Given the description of an element on the screen output the (x, y) to click on. 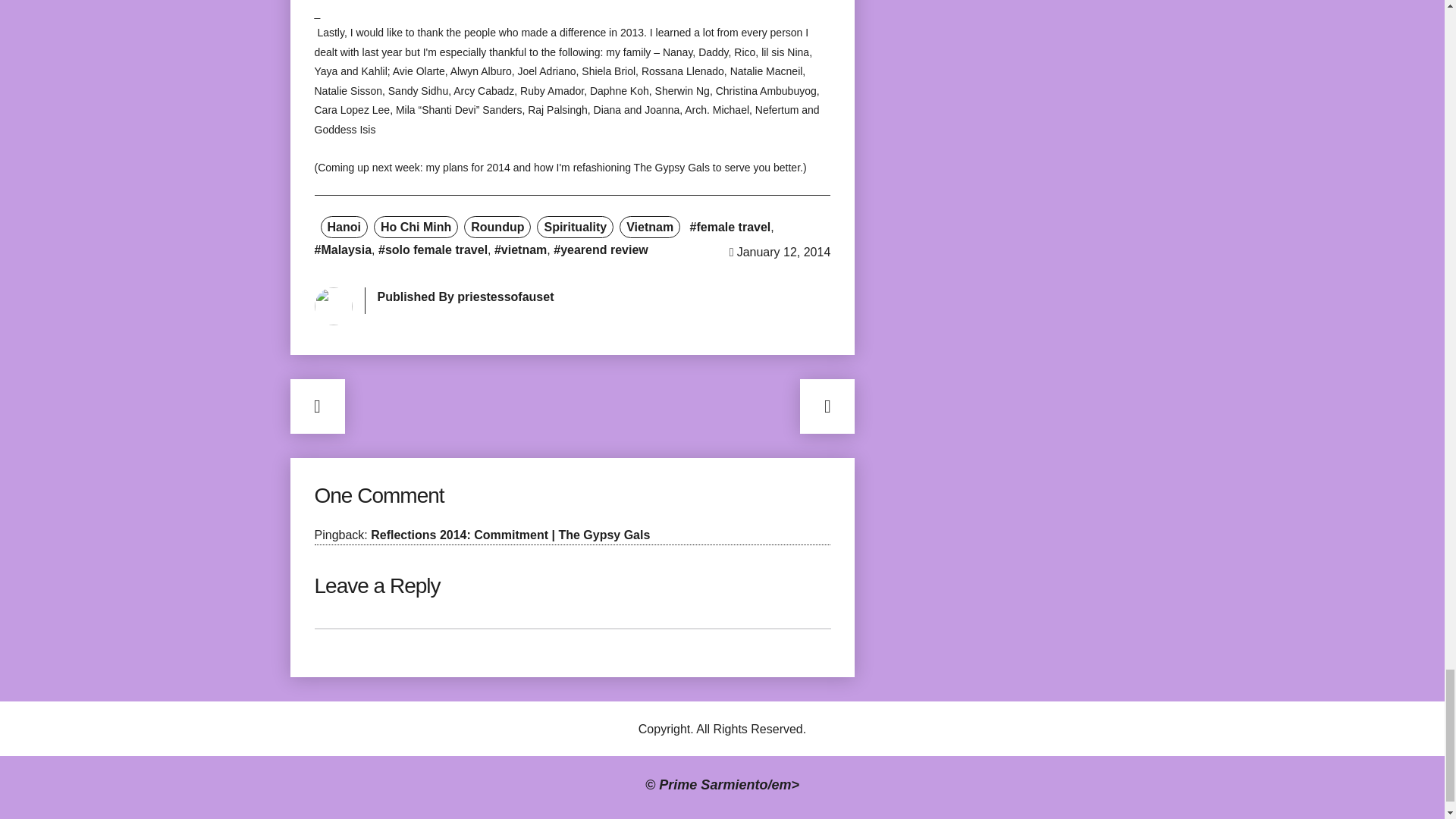
About Us (763, 818)
Contact Us (685, 818)
Hanoi (343, 227)
Spirituality (574, 227)
Ho Chi Minh (416, 227)
Vietnam (649, 227)
Roundup (497, 227)
priestessofauset (505, 296)
